Given the description of an element on the screen output the (x, y) to click on. 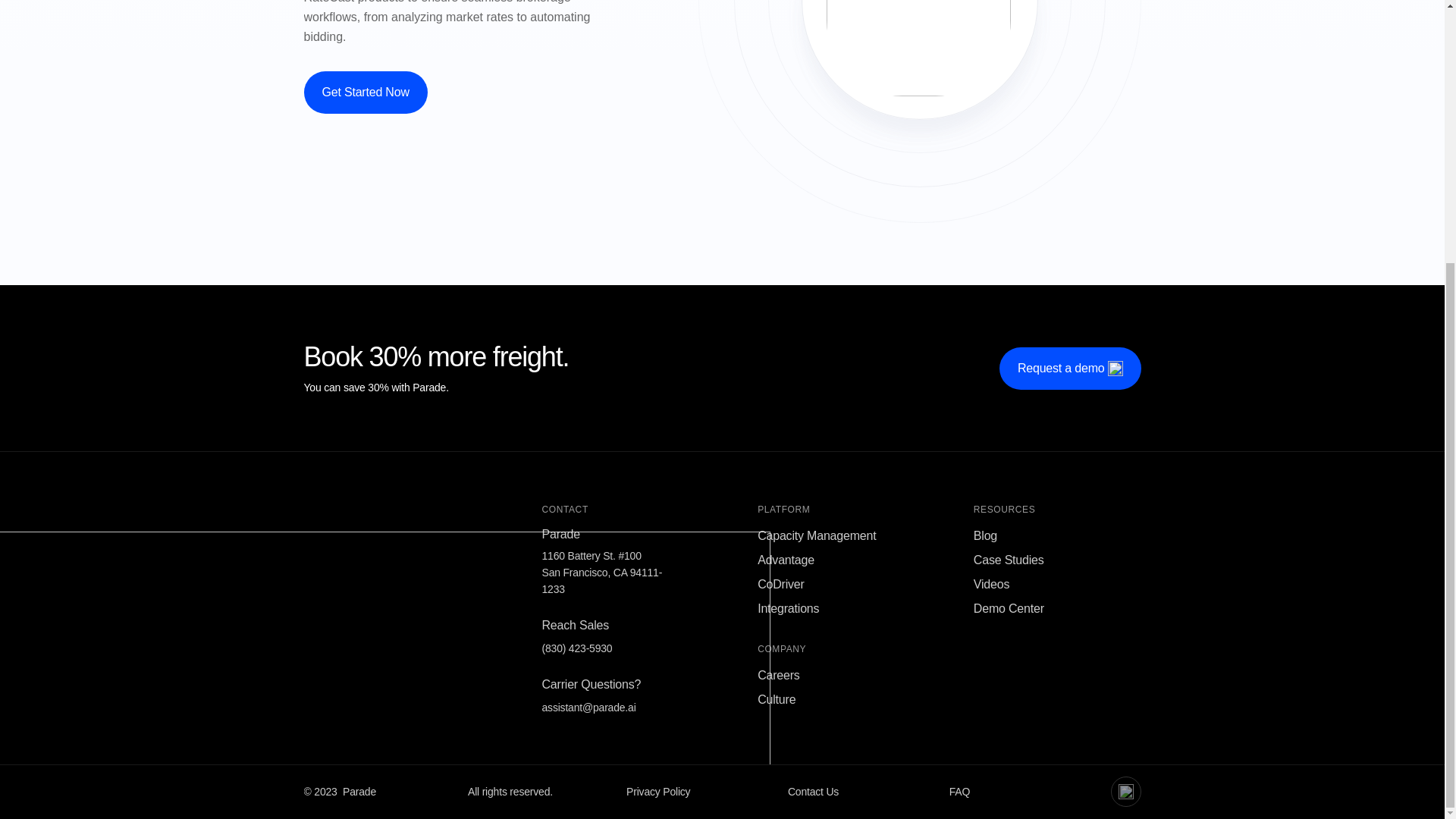
CoDriver (781, 584)
Request a demo (1069, 368)
Integrations (787, 608)
Capacity Management (816, 535)
Advantage (785, 559)
Get Started Now (364, 92)
